Given the description of an element on the screen output the (x, y) to click on. 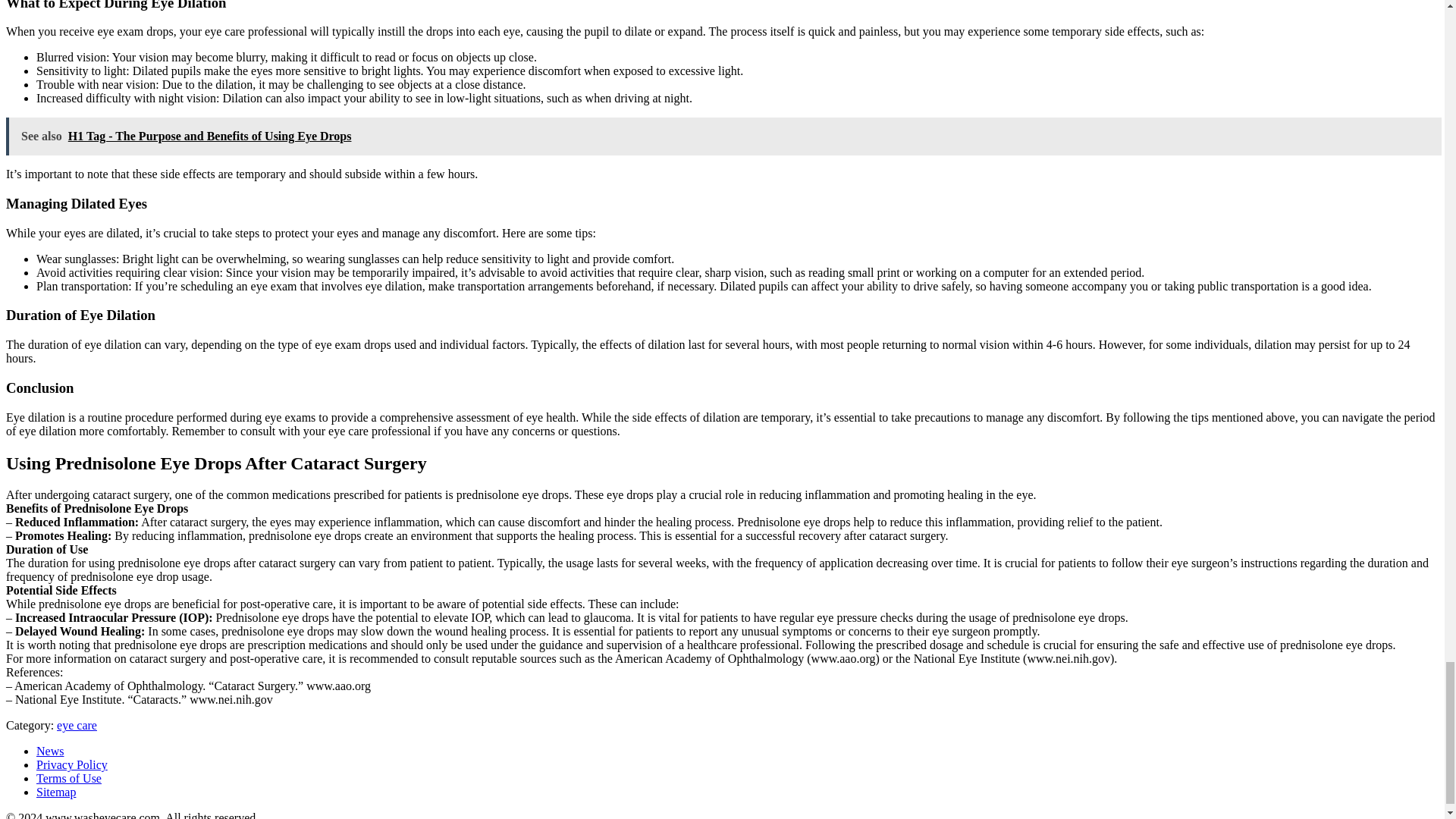
Privacy Policy (71, 764)
eye care (76, 725)
News (50, 750)
